Given the description of an element on the screen output the (x, y) to click on. 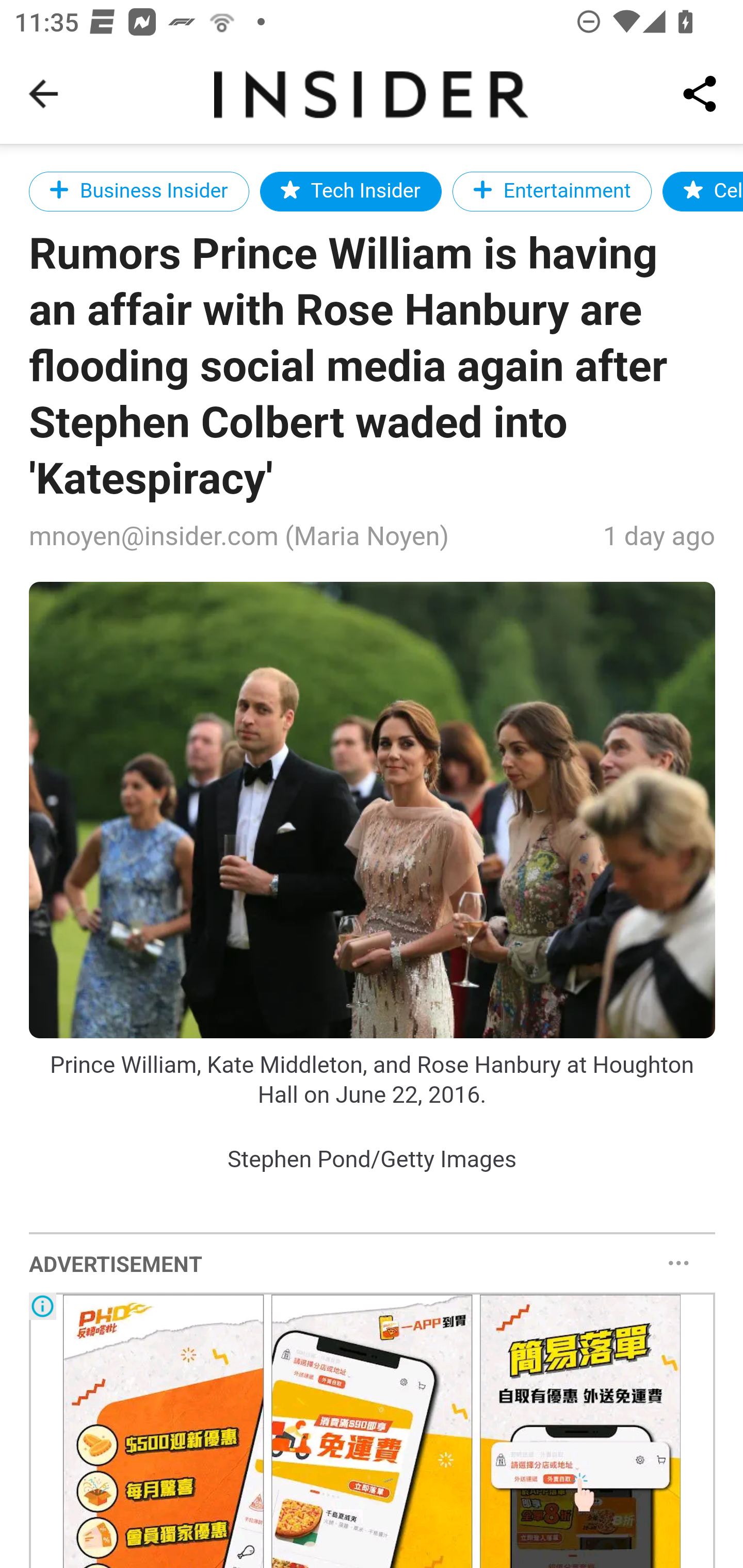
Business Insider (138, 191)
Tech Insider (349, 191)
Entertainment (552, 191)
?url=https%3A%2F%2Fi.insider (372, 810)
